Given the description of an element on the screen output the (x, y) to click on. 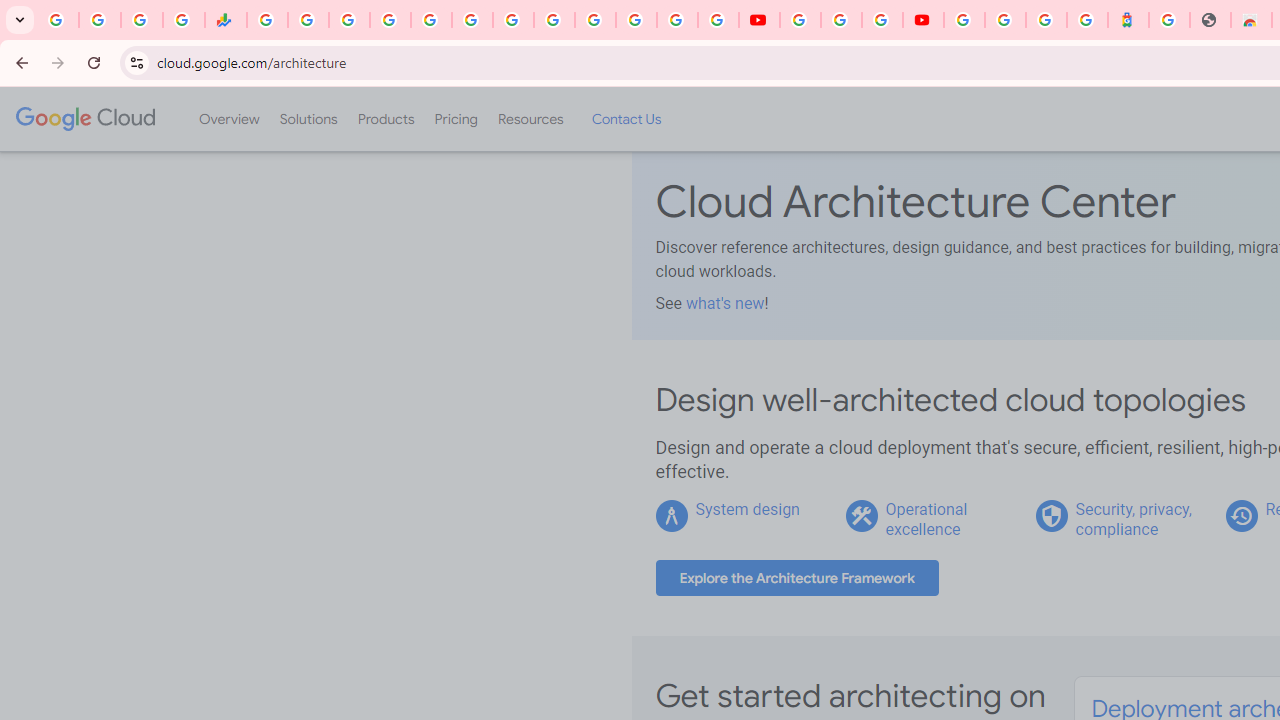
Overview (228, 119)
Create your Google Account (881, 20)
Products (385, 119)
Privacy Checkup (717, 20)
YouTube (758, 20)
System design (747, 509)
Contact Us (626, 119)
Resources (530, 119)
